Given the description of an element on the screen output the (x, y) to click on. 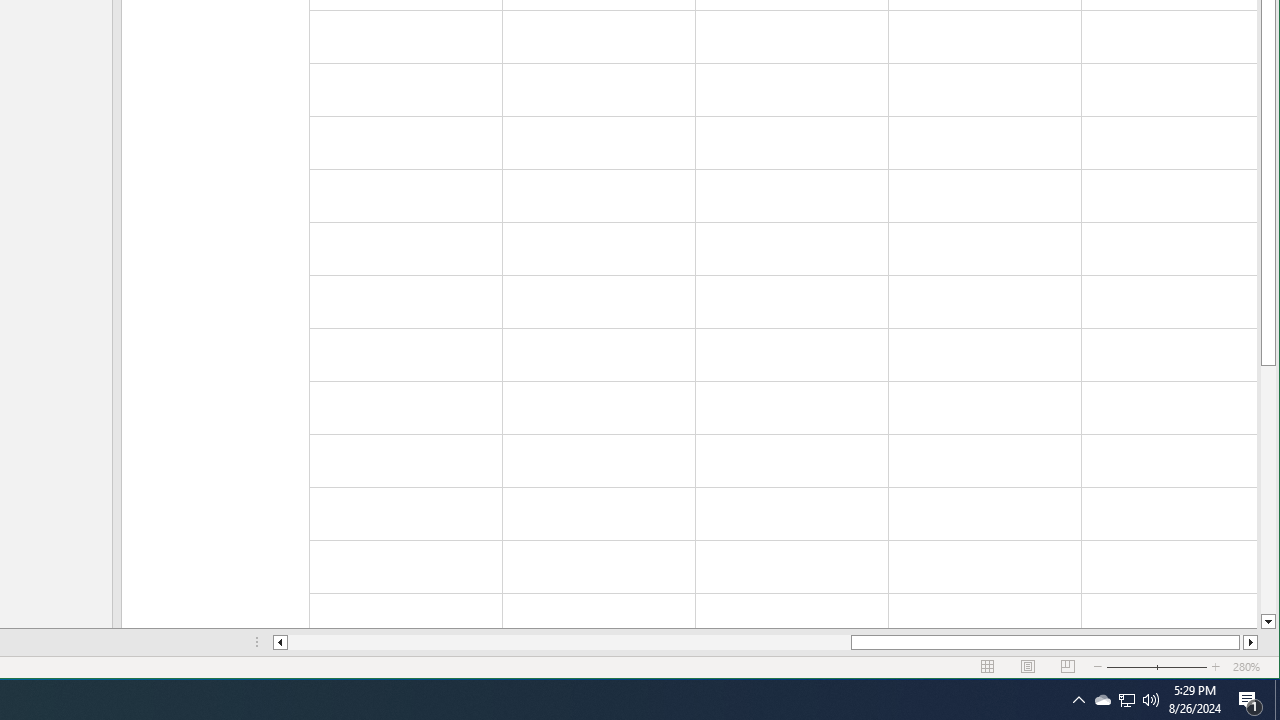
Notification Chevron (1078, 699)
Q2790: 100% (1151, 699)
Action Center, 1 new notification (1102, 699)
Show desktop (1250, 699)
Sunset coming (1277, 699)
